Given the description of an element on the screen output the (x, y) to click on. 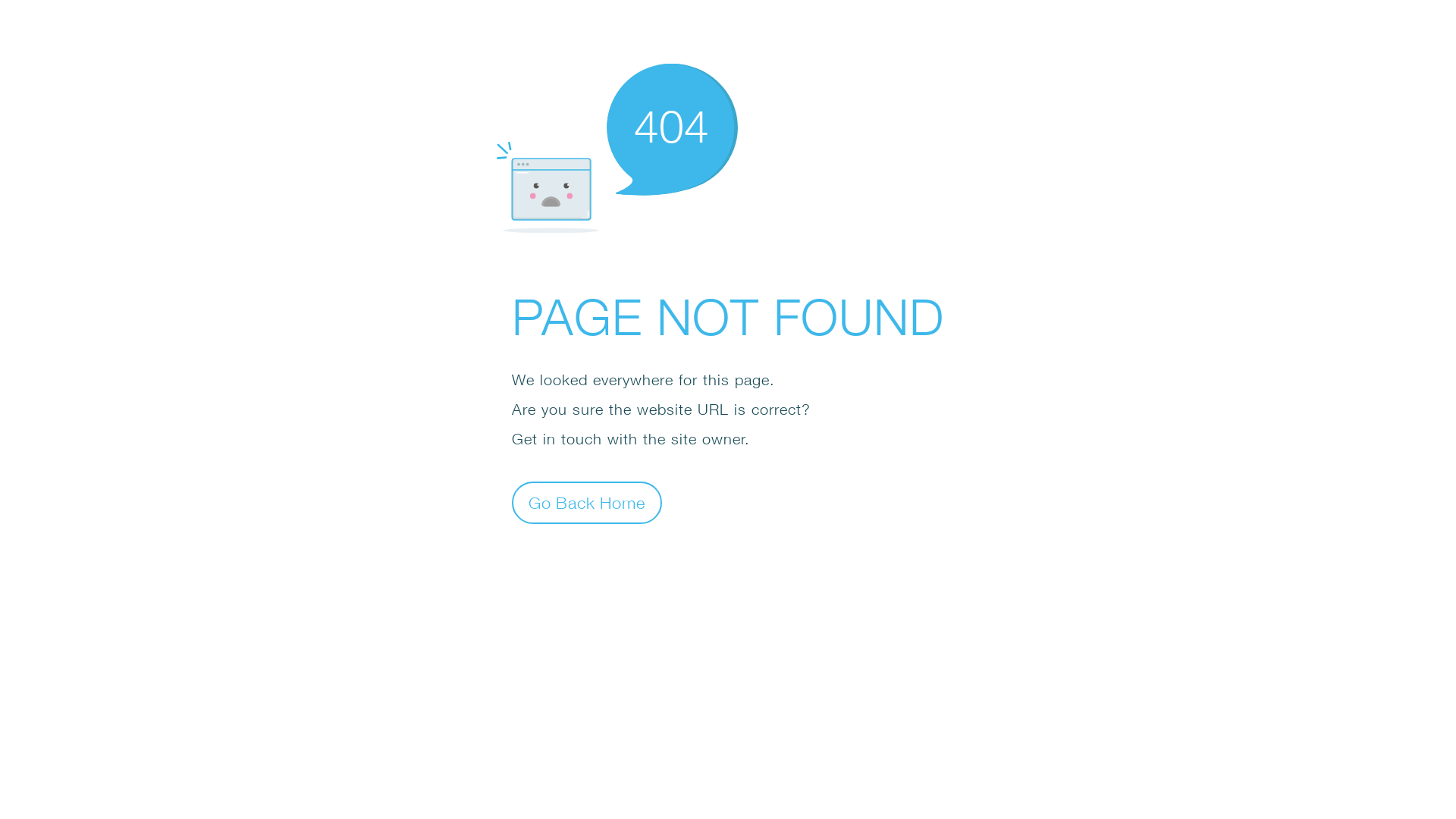
Go Back Home Element type: text (586, 502)
